Given the description of an element on the screen output the (x, y) to click on. 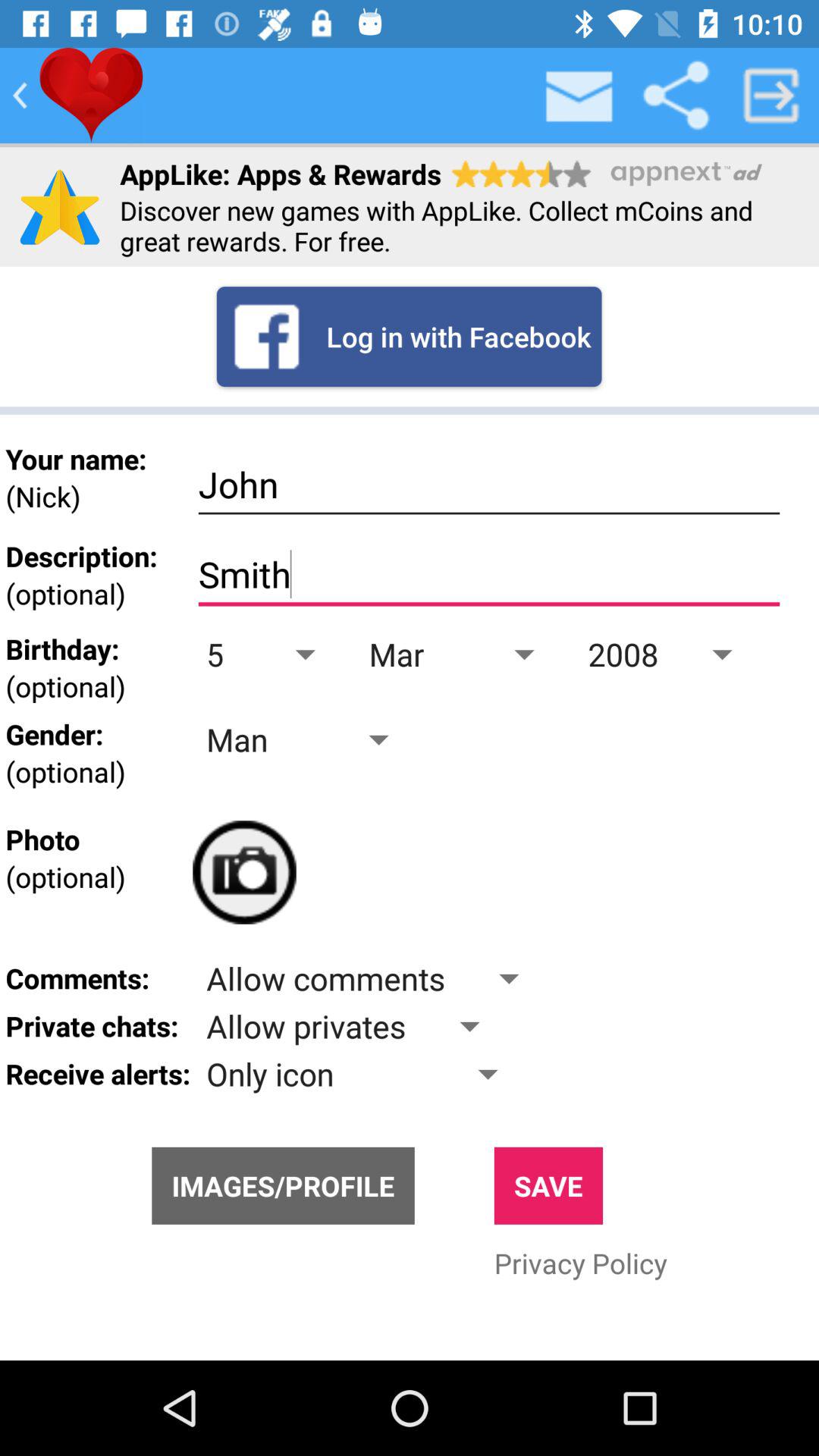
message (579, 95)
